Given the description of an element on the screen output the (x, y) to click on. 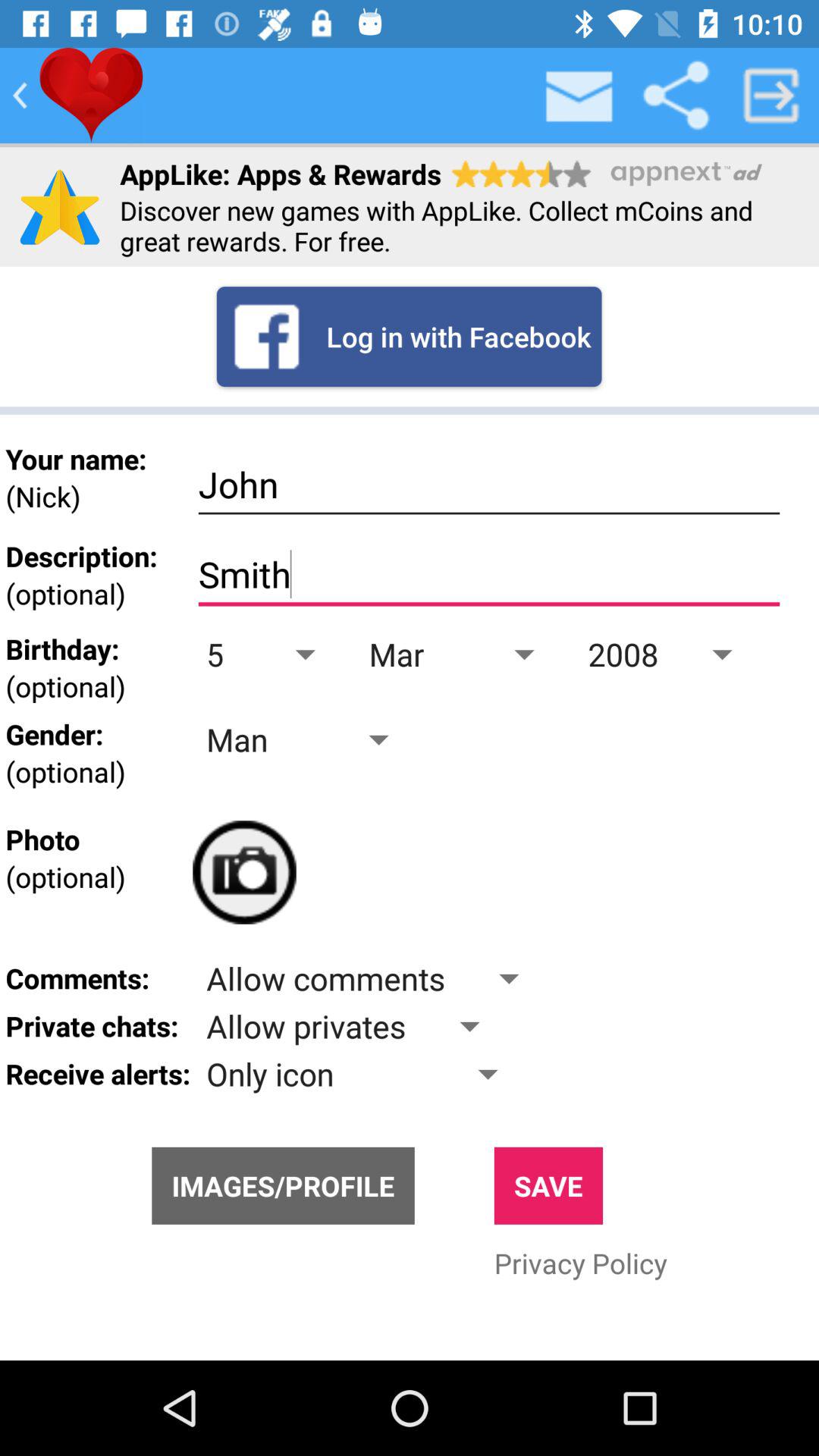
message (579, 95)
